Given the description of an element on the screen output the (x, y) to click on. 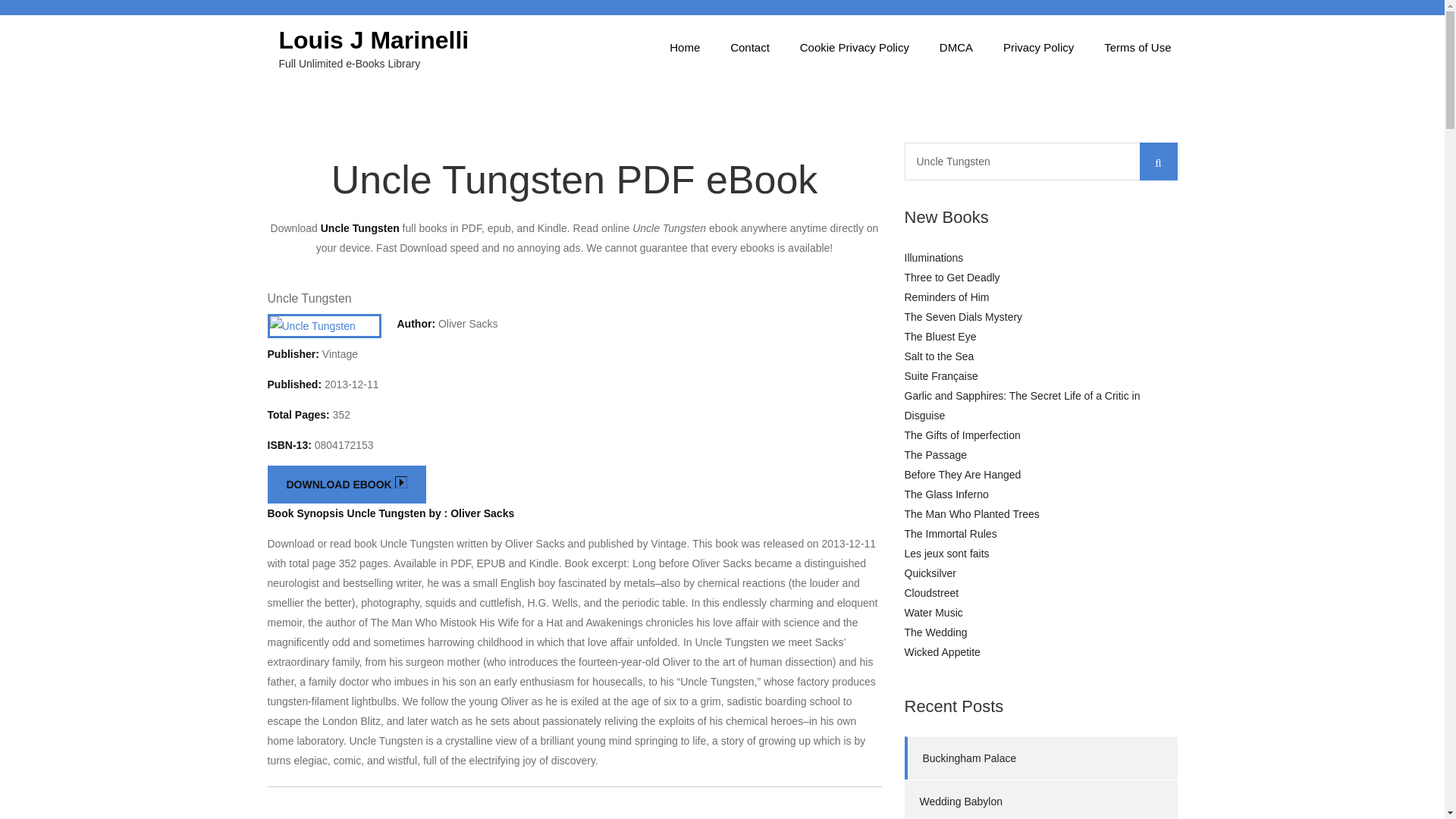
DMCA (956, 47)
Privacy Policy (1038, 47)
Contact (749, 47)
DOWNLOAD EBOOK (346, 484)
Uncle Tungsten (308, 297)
Search for: (1040, 161)
Terms of Use (1137, 47)
Uncle Tungsten (1040, 161)
Search (1157, 161)
